Given the description of an element on the screen output the (x, y) to click on. 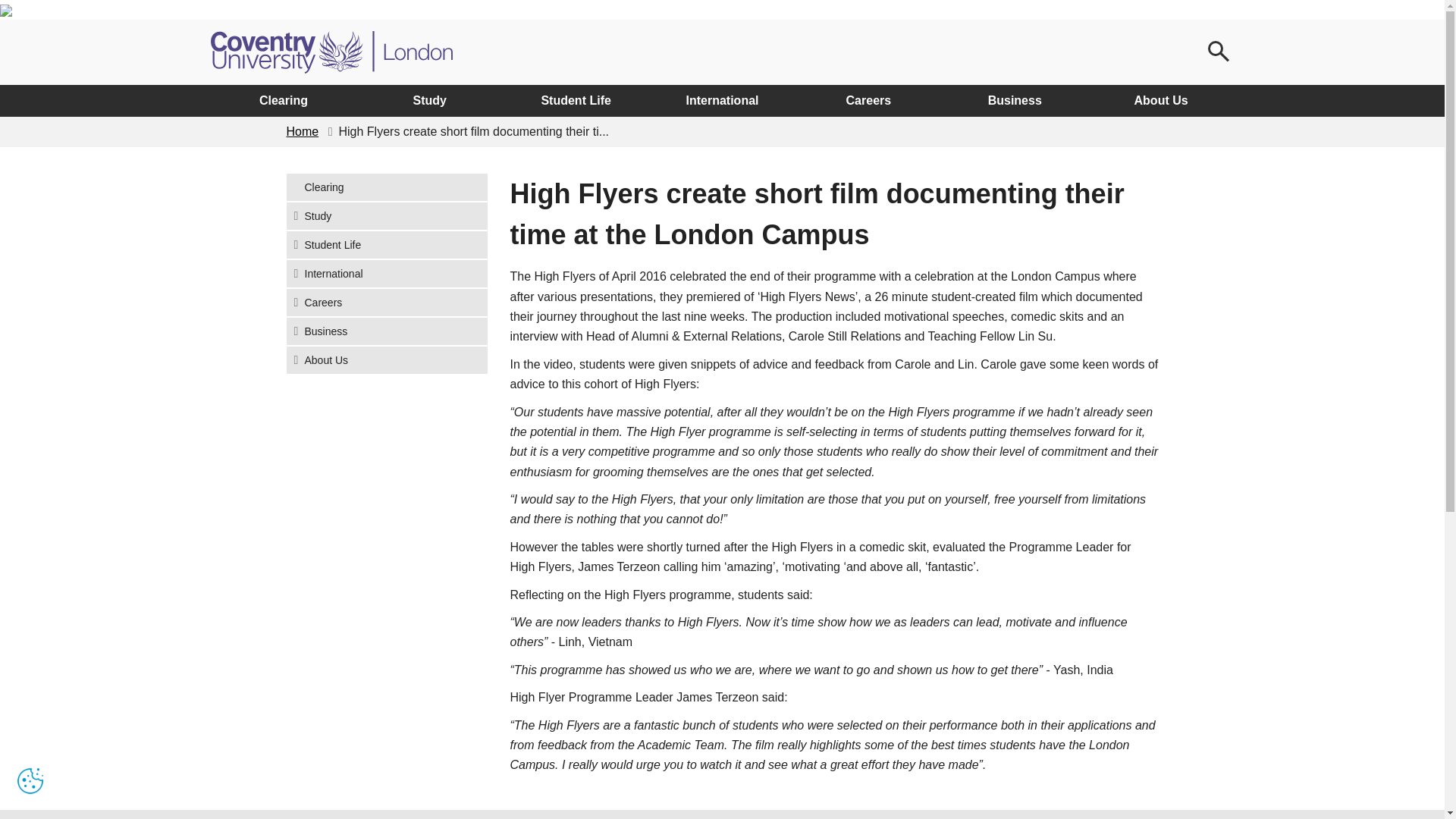
Home (302, 131)
Careers (386, 302)
Clearing (386, 186)
Business (386, 330)
Business (1014, 101)
Student Life (386, 244)
Clearing (283, 101)
Careers (868, 101)
International (386, 273)
About Us (1160, 101)
